Given the description of an element on the screen output the (x, y) to click on. 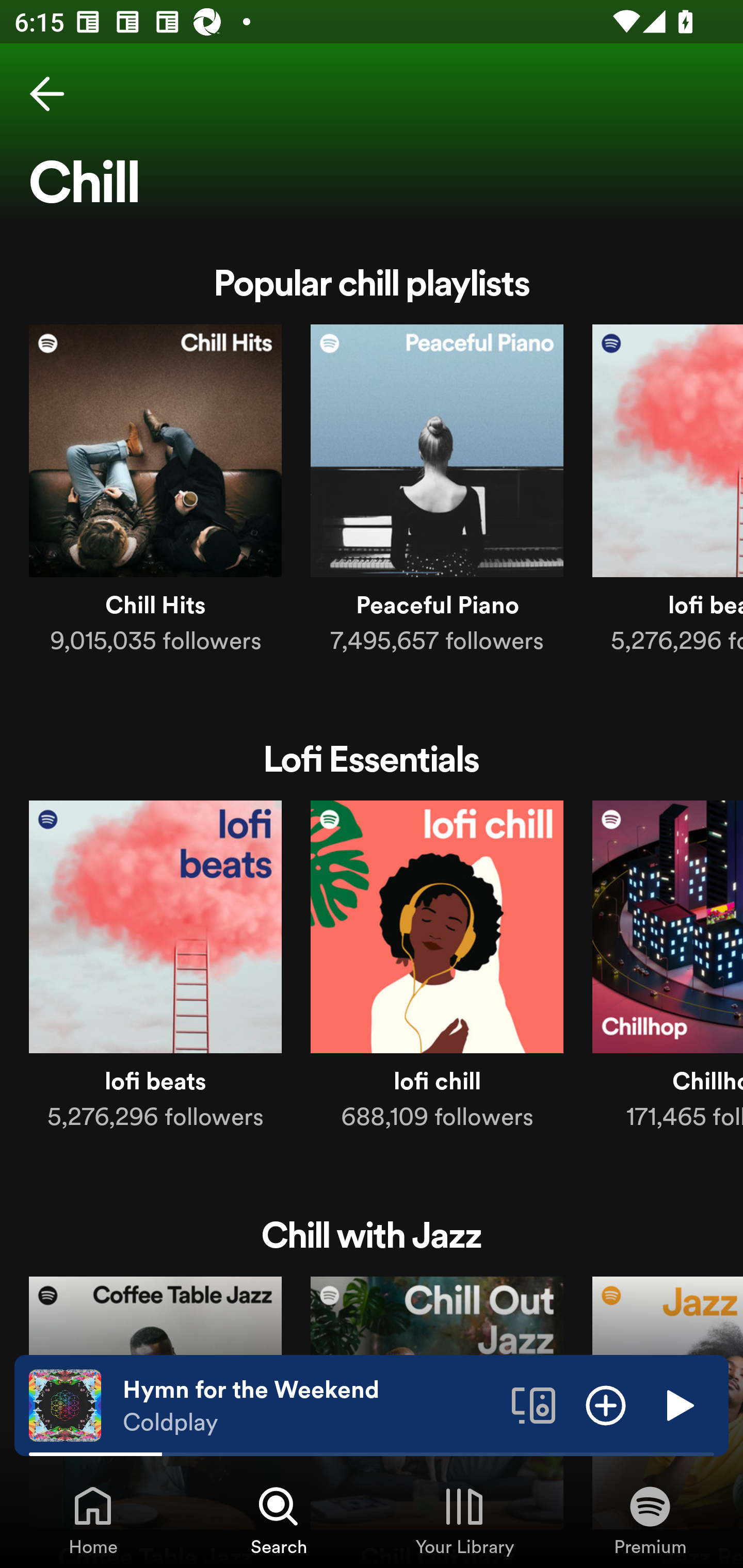
Back (46, 93)
Hymn for the Weekend Coldplay (309, 1405)
The cover art of the currently playing track (64, 1404)
Connect to a device. Opens the devices menu (533, 1404)
Add item (605, 1404)
Play (677, 1404)
Home, Tab 1 of 4 Home Home (92, 1519)
Search, Tab 2 of 4 Search Search (278, 1519)
Your Library, Tab 3 of 4 Your Library Your Library (464, 1519)
Premium, Tab 4 of 4 Premium Premium (650, 1519)
